Given the description of an element on the screen output the (x, y) to click on. 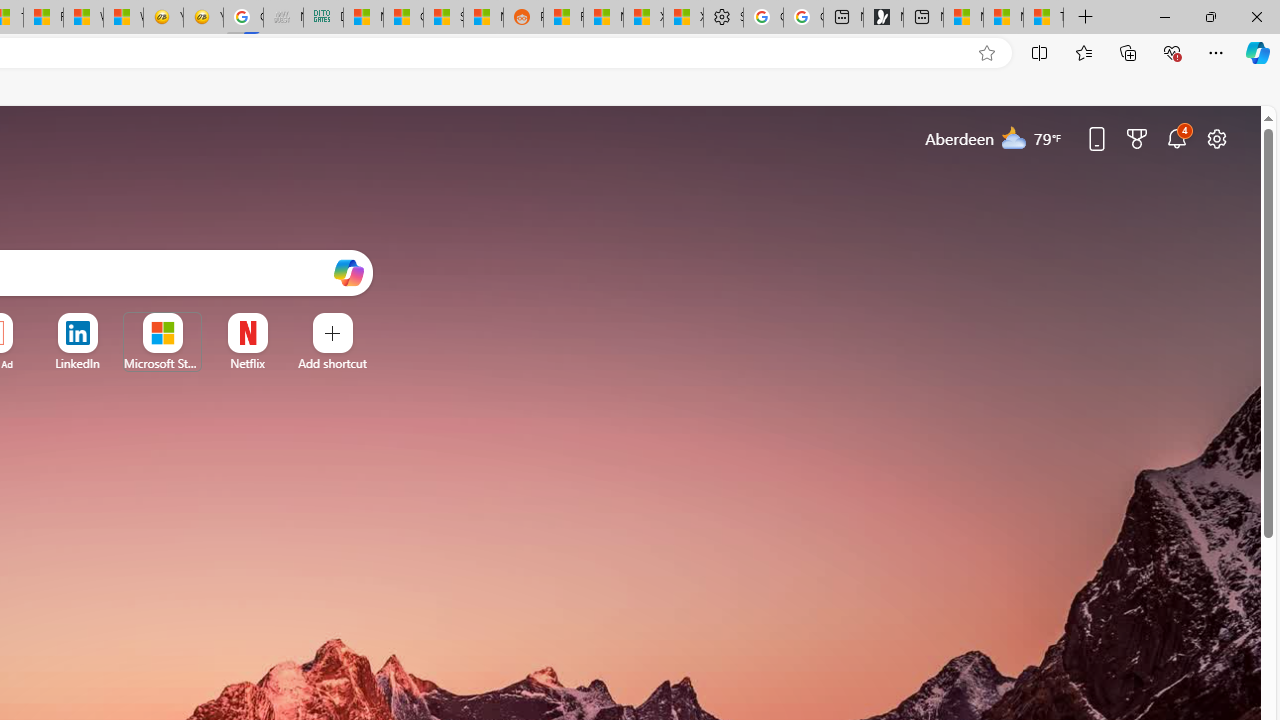
Mostly cloudy (1014, 137)
R******* | Trusted Community Engagement and Contributions (563, 17)
